Given the description of an element on the screen output the (x, y) to click on. 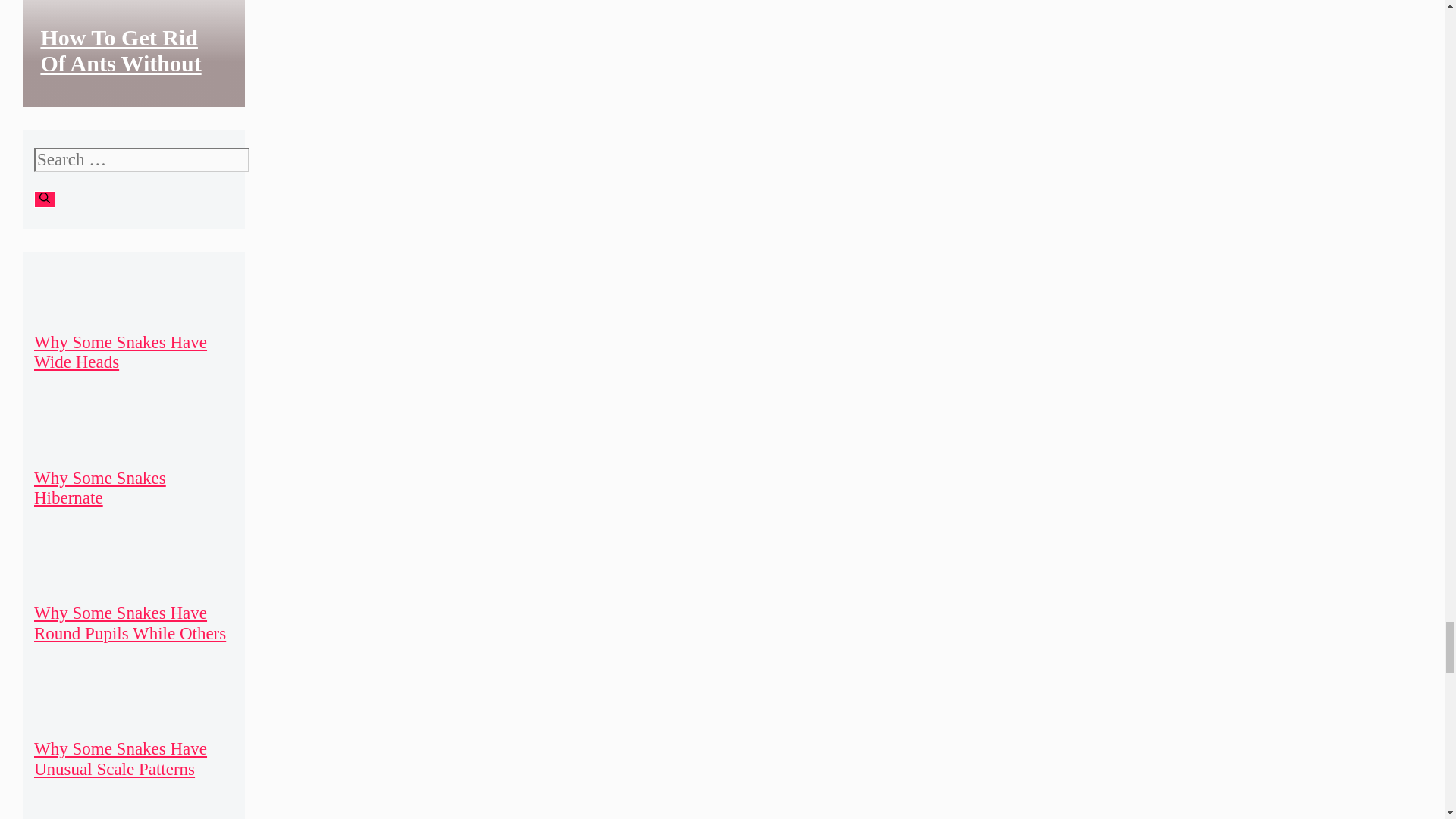
How To Get Rid Of Ants Without Hurting Plants (120, 62)
Why Some Snakes Have Wide Heads (119, 351)
